Given the description of an element on the screen output the (x, y) to click on. 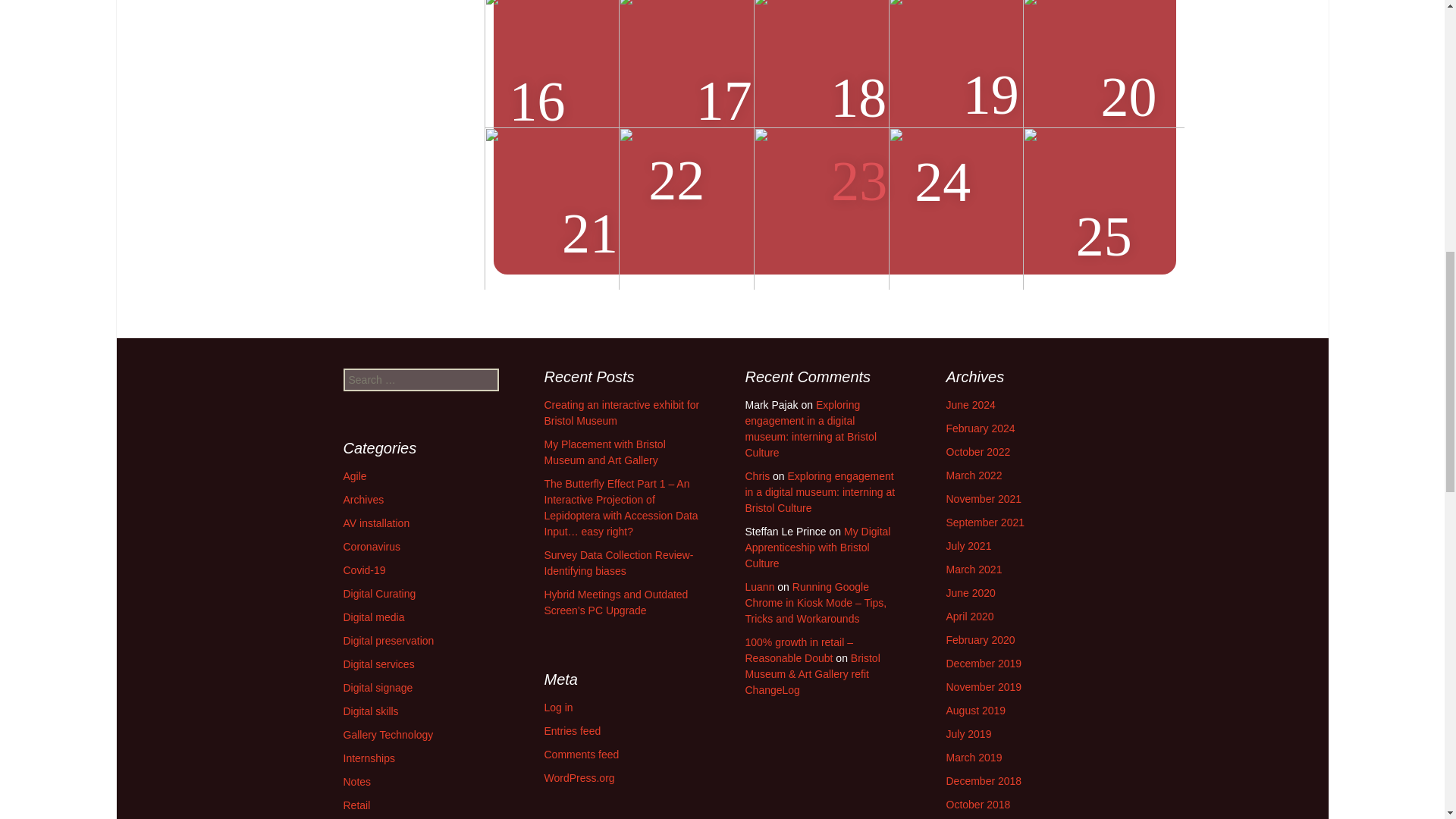
Luann (759, 586)
June 2024 (970, 404)
February 2020 (980, 639)
September 2021 (985, 522)
March 2021 (974, 569)
February 2024 (980, 428)
March 2022 (974, 475)
October 2022 (978, 451)
My Placement with Bristol Museum and Art Gallery (604, 452)
March 2019 (974, 757)
July 2021 (968, 545)
August 2019 (976, 710)
November 2019 (984, 686)
Chris (757, 476)
June 2020 (970, 592)
